Given the description of an element on the screen output the (x, y) to click on. 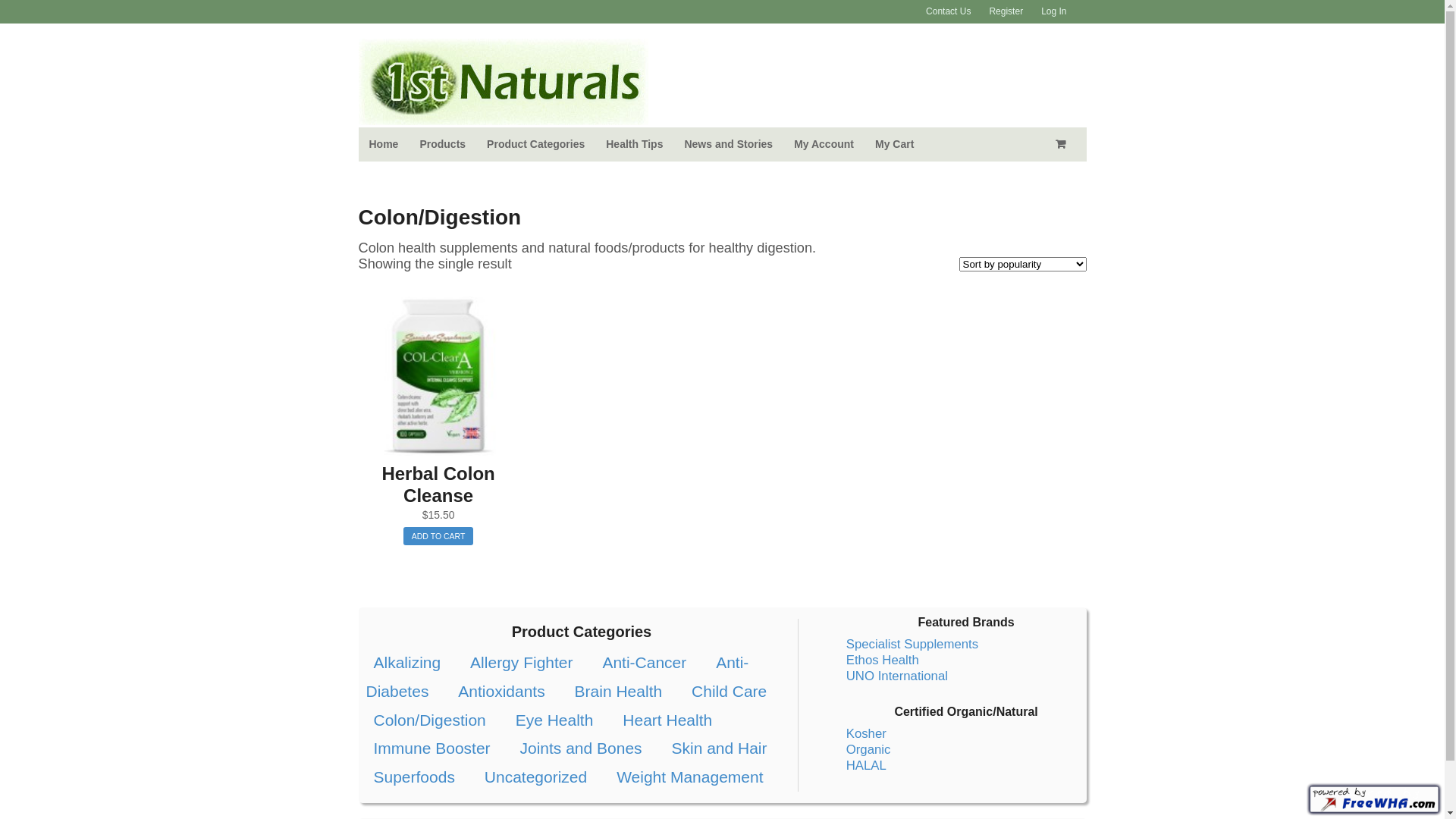
ADD TO CART Element type: text (438, 536)
News and Stories Element type: text (728, 144)
Superfoods Element type: text (413, 776)
Register Element type: text (1005, 11)
Anti-Cancer Element type: text (644, 662)
Products Element type: text (442, 144)
Product Categories Element type: text (535, 144)
Contact Us Element type: text (947, 11)
Weight Management Element type: text (689, 776)
Joints and Bones Element type: text (580, 747)
Skin and Hair Element type: text (718, 747)
Alkalizing Element type: text (406, 662)
Allergy Fighter Element type: text (521, 662)
Immune Booster Element type: text (431, 747)
UNO International Element type: text (896, 675)
Uncategorized Element type: text (535, 776)
Helping you live long and healthy. Element type: hover (502, 116)
My Cart Element type: text (894, 144)
Log In Element type: text (1053, 11)
Kosher Element type: text (866, 733)
Ethos Health Element type: text (882, 659)
Colon/Digestion Element type: text (429, 719)
Herbal Colon Cleanse
$15.50 Element type: text (437, 409)
Brain Health Element type: text (618, 690)
Child Care Element type: text (728, 690)
Anti-Diabetes Element type: text (556, 676)
View your shopping cart Element type: hover (1062, 144)
Antioxidants Element type: text (501, 690)
Home Element type: text (382, 144)
Specialist Supplements Element type: text (912, 644)
Heart Health Element type: text (667, 719)
My Account Element type: text (823, 144)
Health Tips Element type: text (634, 144)
HALAL Element type: text (866, 765)
Eye Health Element type: text (554, 719)
Organic Element type: text (868, 749)
